Given the description of an element on the screen output the (x, y) to click on. 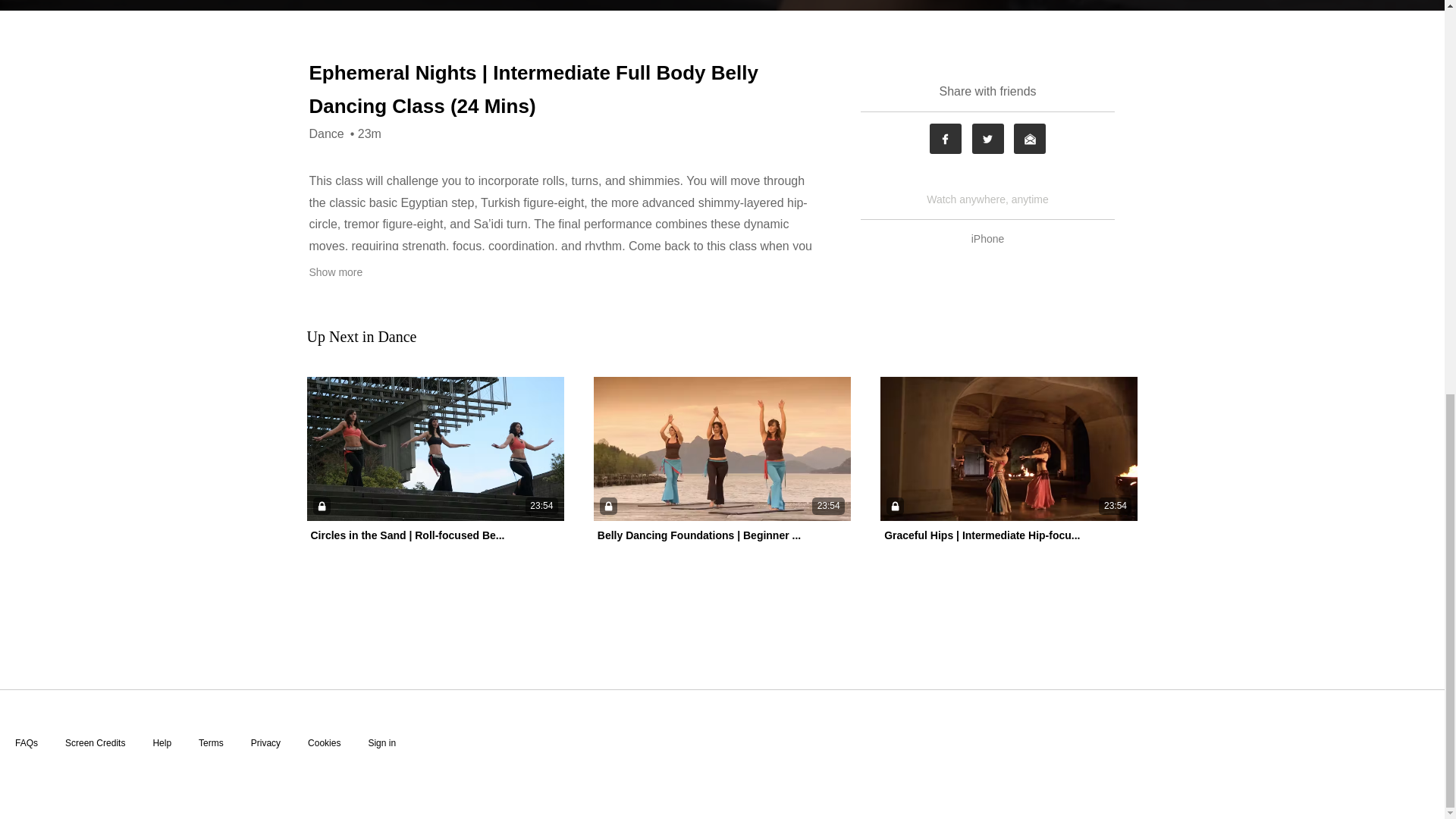
Twitter (988, 138)
Dance (396, 336)
23:54 (434, 448)
Dance (325, 133)
FAQs (25, 742)
Facebook (945, 138)
iPhone (988, 238)
23:54 (722, 448)
23:54 (1008, 448)
Email (1029, 138)
